Given the description of an element on the screen output the (x, y) to click on. 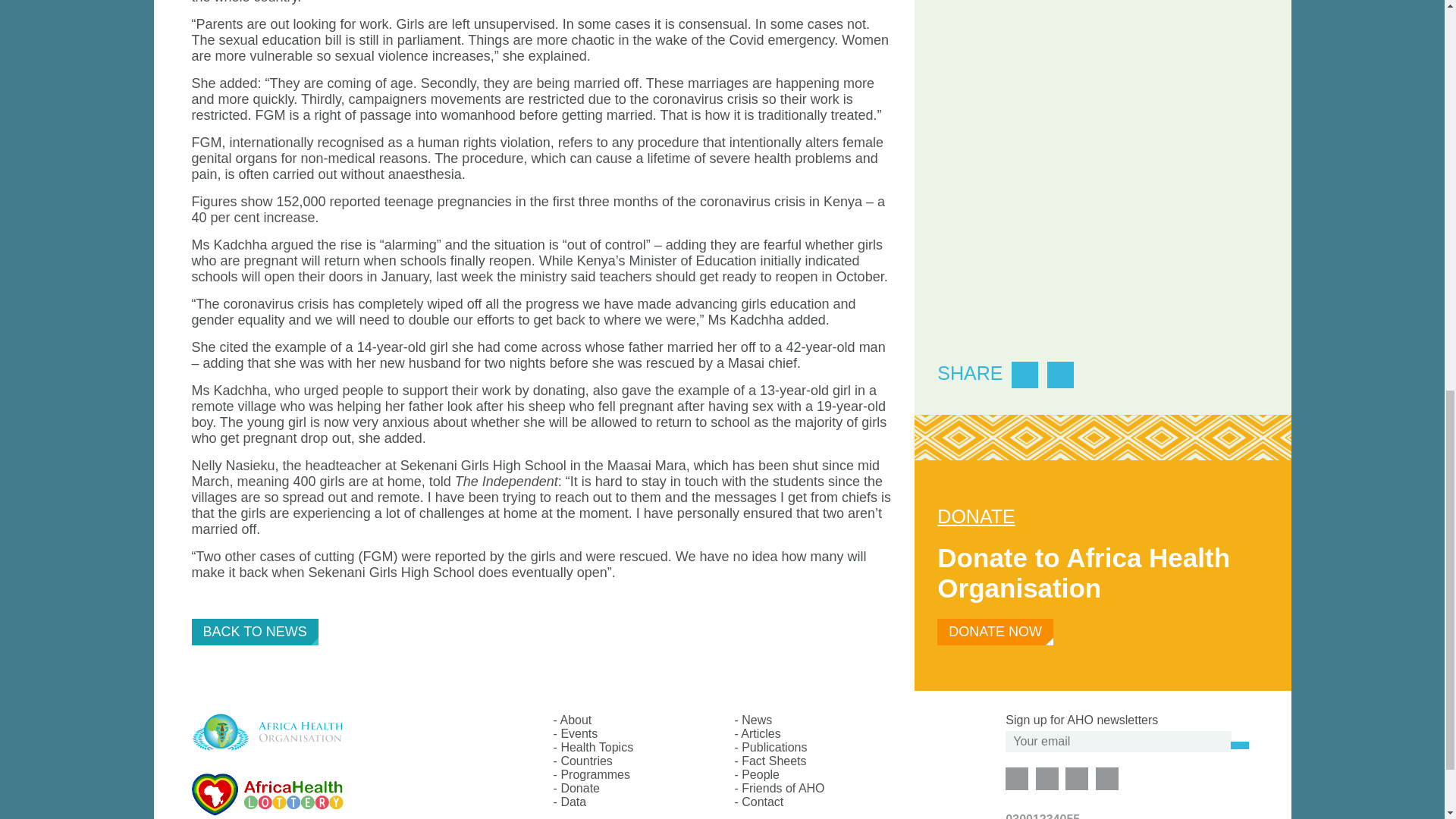
BACK TO NEWS (253, 632)
DONATE NOW (994, 632)
